Given the description of an element on the screen output the (x, y) to click on. 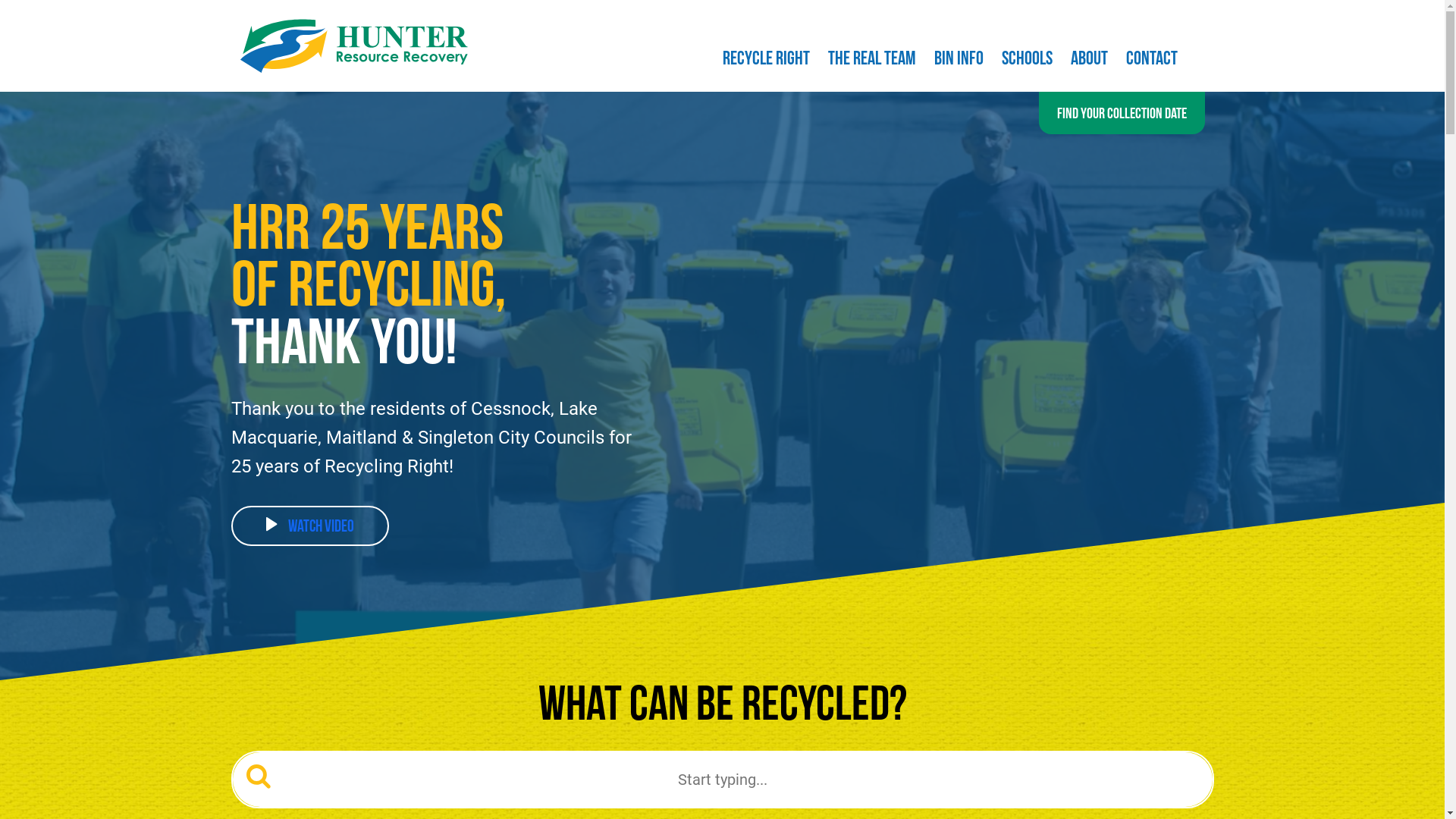
PLAY VIDEO BUTTON WATCH VIDEO Element type: text (309, 525)
Schools Element type: text (1025, 60)
Find Your Collection Date Element type: text (1121, 112)
About Element type: text (1089, 60)
Recycle Right Element type: text (765, 60)
The Real Team Element type: text (872, 60)
Contact Element type: text (1151, 60)
Bin Info Element type: text (958, 60)
